Given the description of an element on the screen output the (x, y) to click on. 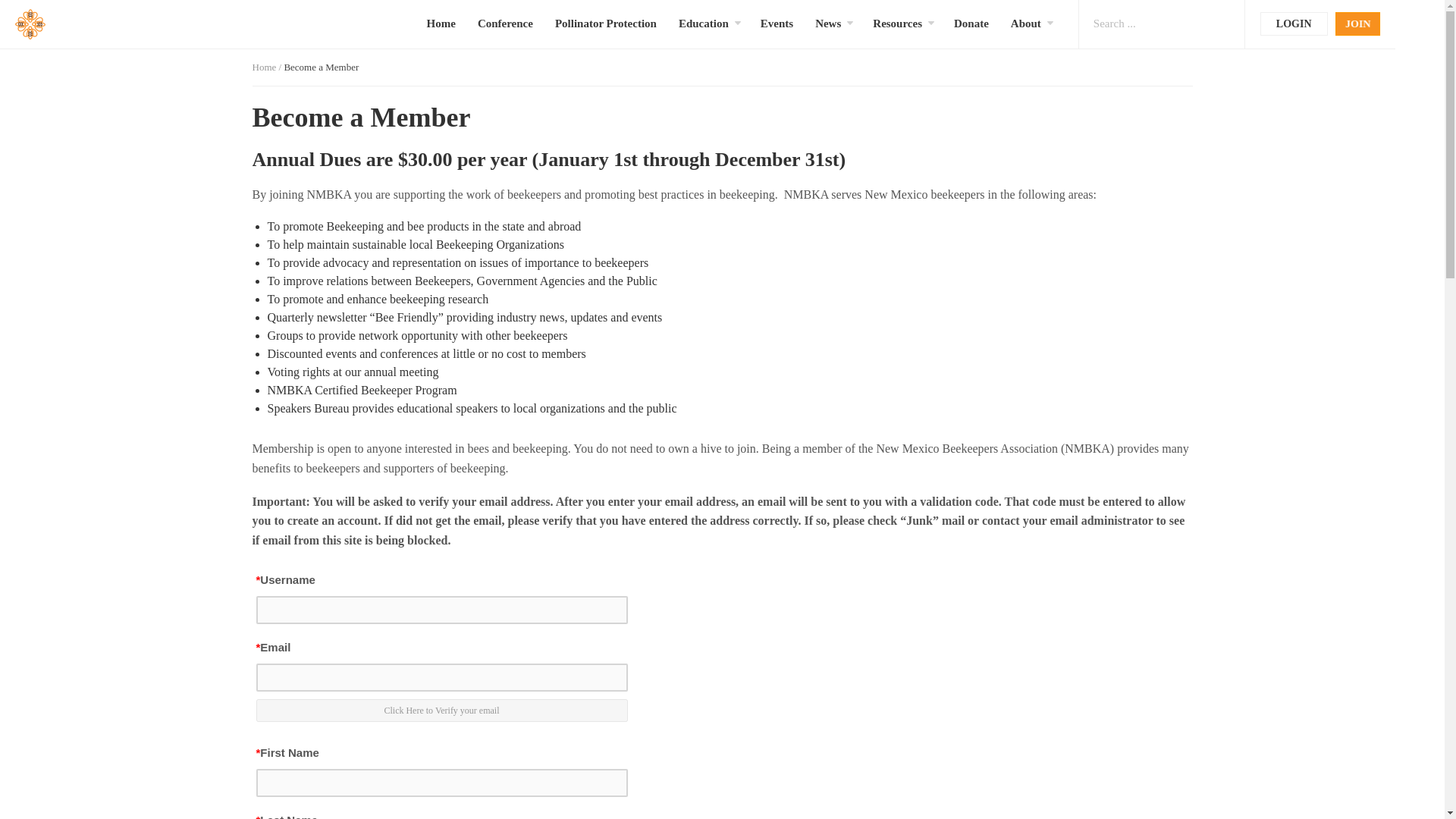
Pollinator Protection (605, 23)
Home (440, 23)
Conference (504, 23)
Resources (896, 23)
Education (703, 23)
Donate (970, 23)
LOGIN (1293, 24)
Please Enter an email to enable this. (441, 710)
JOIN (1357, 24)
News (828, 23)
About (1025, 23)
Events (776, 23)
